Given the description of an element on the screen output the (x, y) to click on. 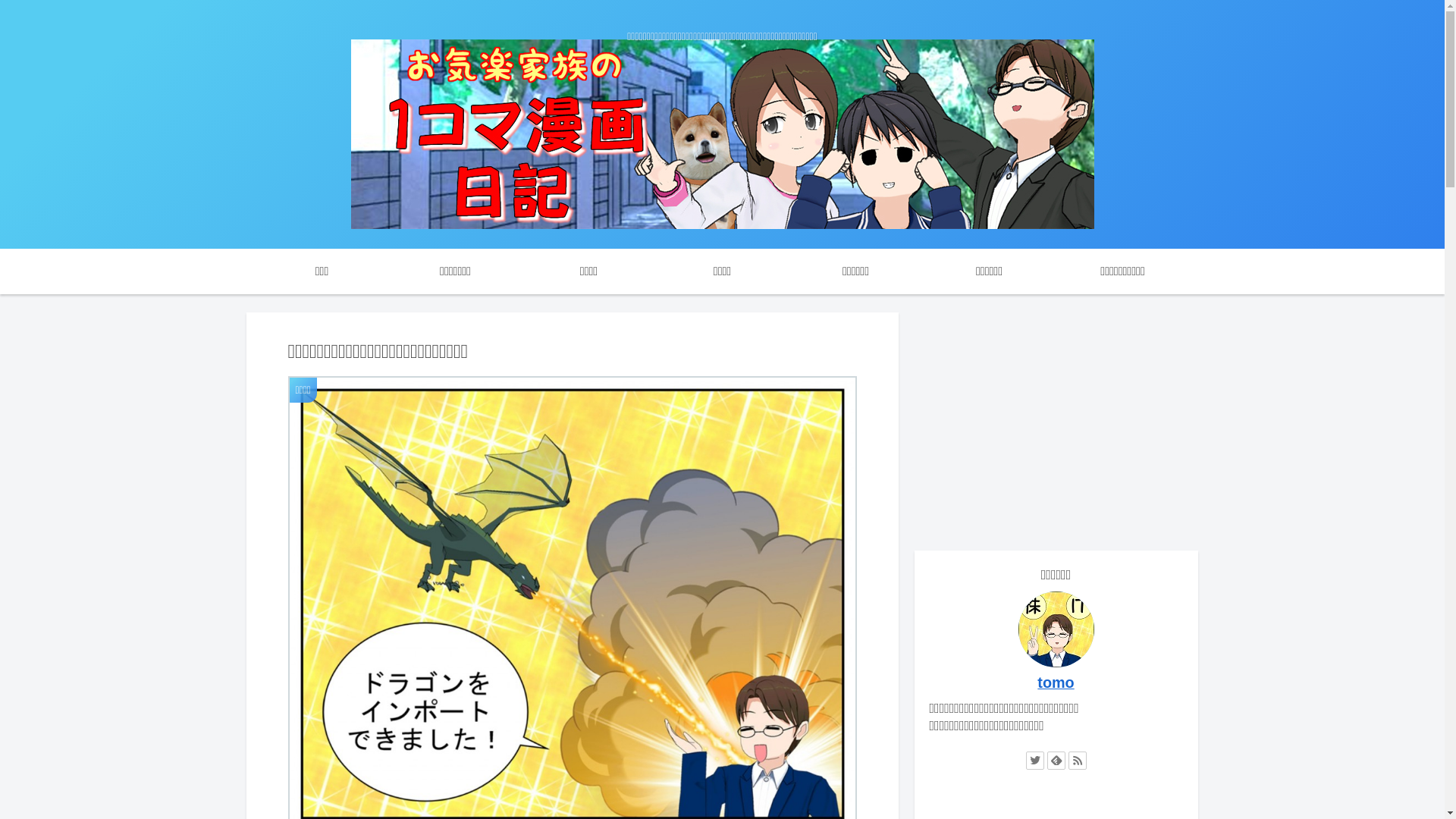
Advertisement Element type: hover (1056, 419)
tomo Element type: text (1055, 682)
